Given the description of an element on the screen output the (x, y) to click on. 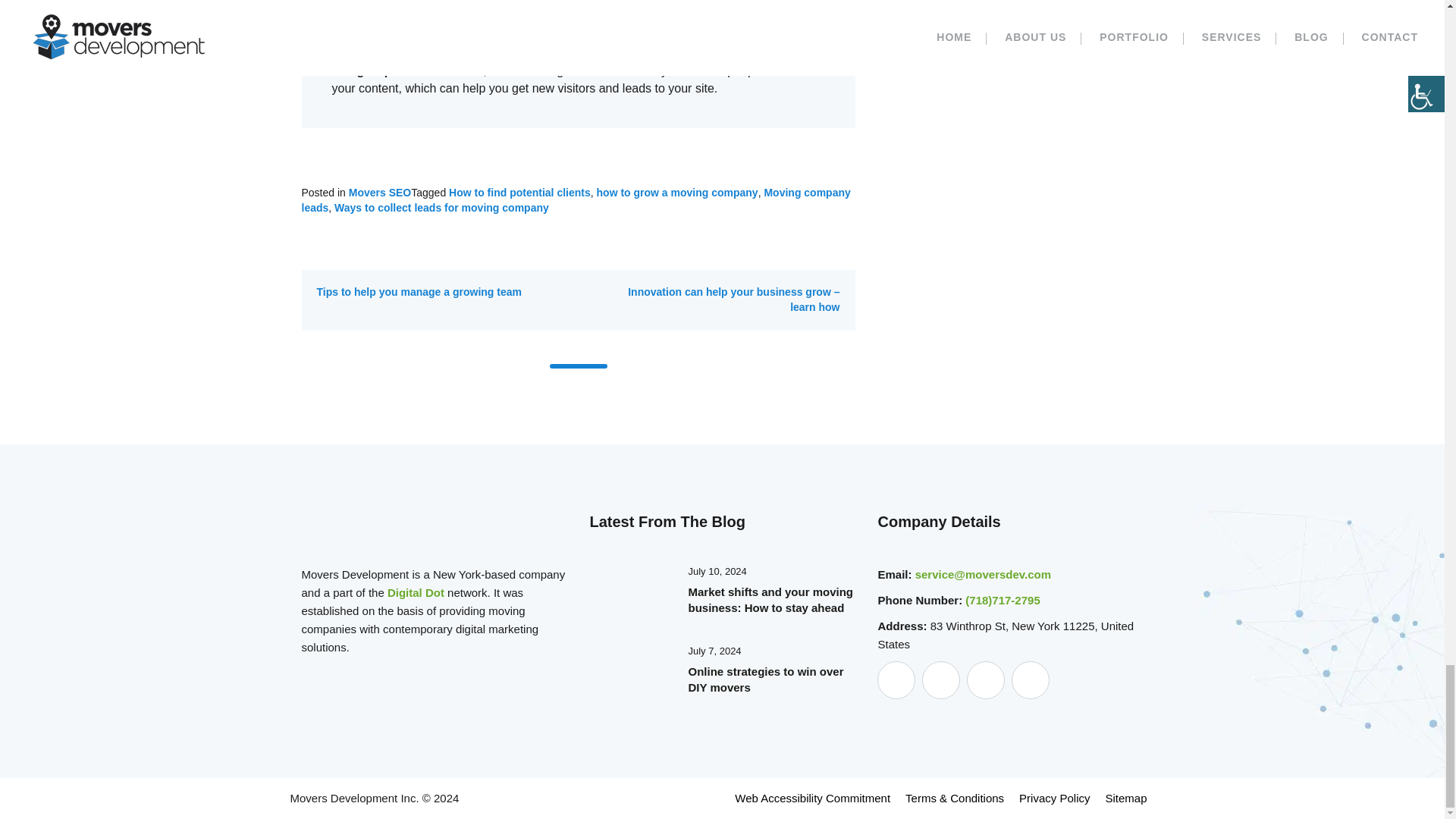
how to grow a moving company (677, 192)
Moving company leads (575, 199)
Movers SEO (379, 192)
How to find potential clients (519, 192)
Ways to collect leads for moving company (441, 207)
